Given the description of an element on the screen output the (x, y) to click on. 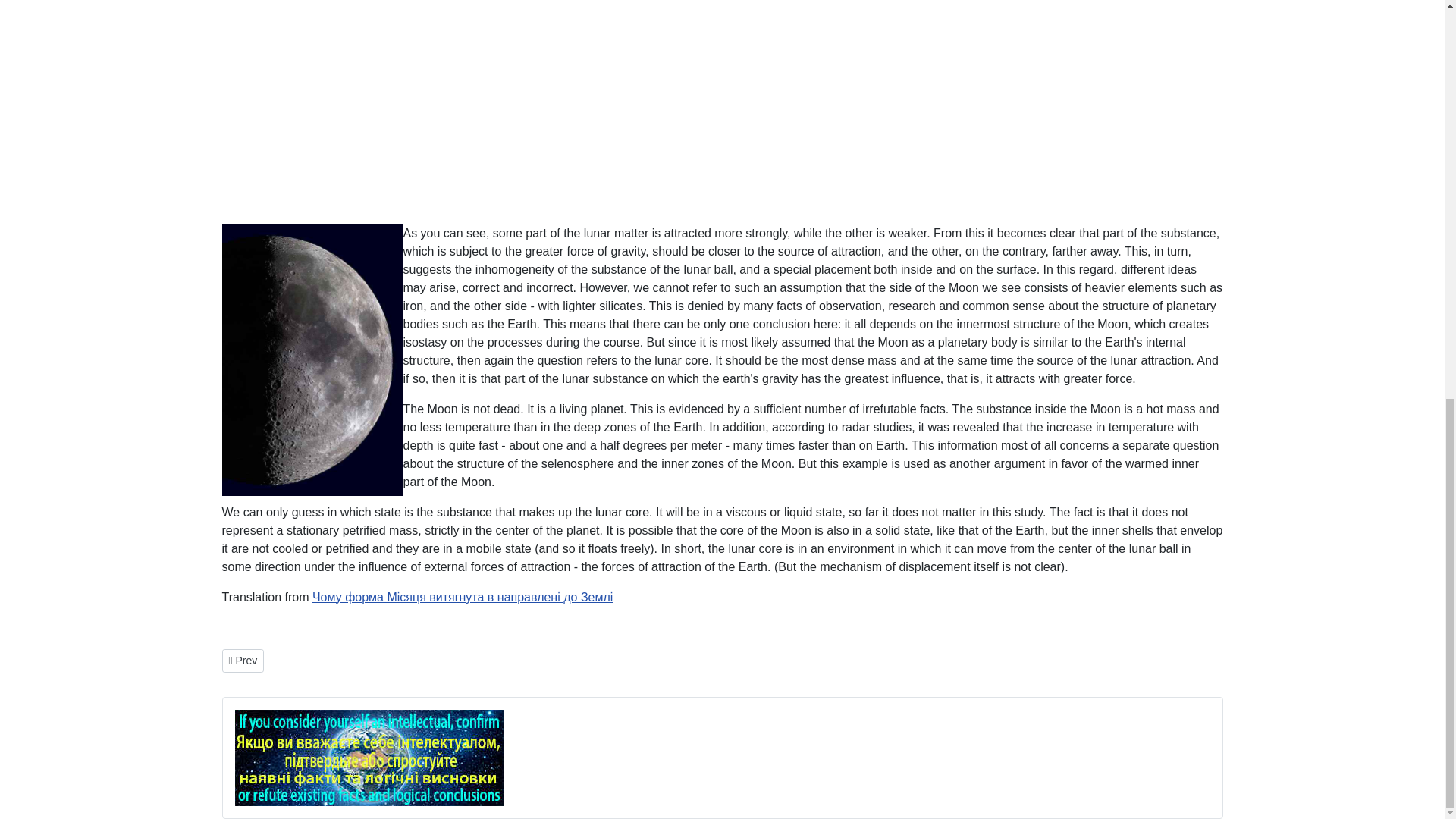
For intellectuals (368, 756)
